Given the description of an element on the screen output the (x, y) to click on. 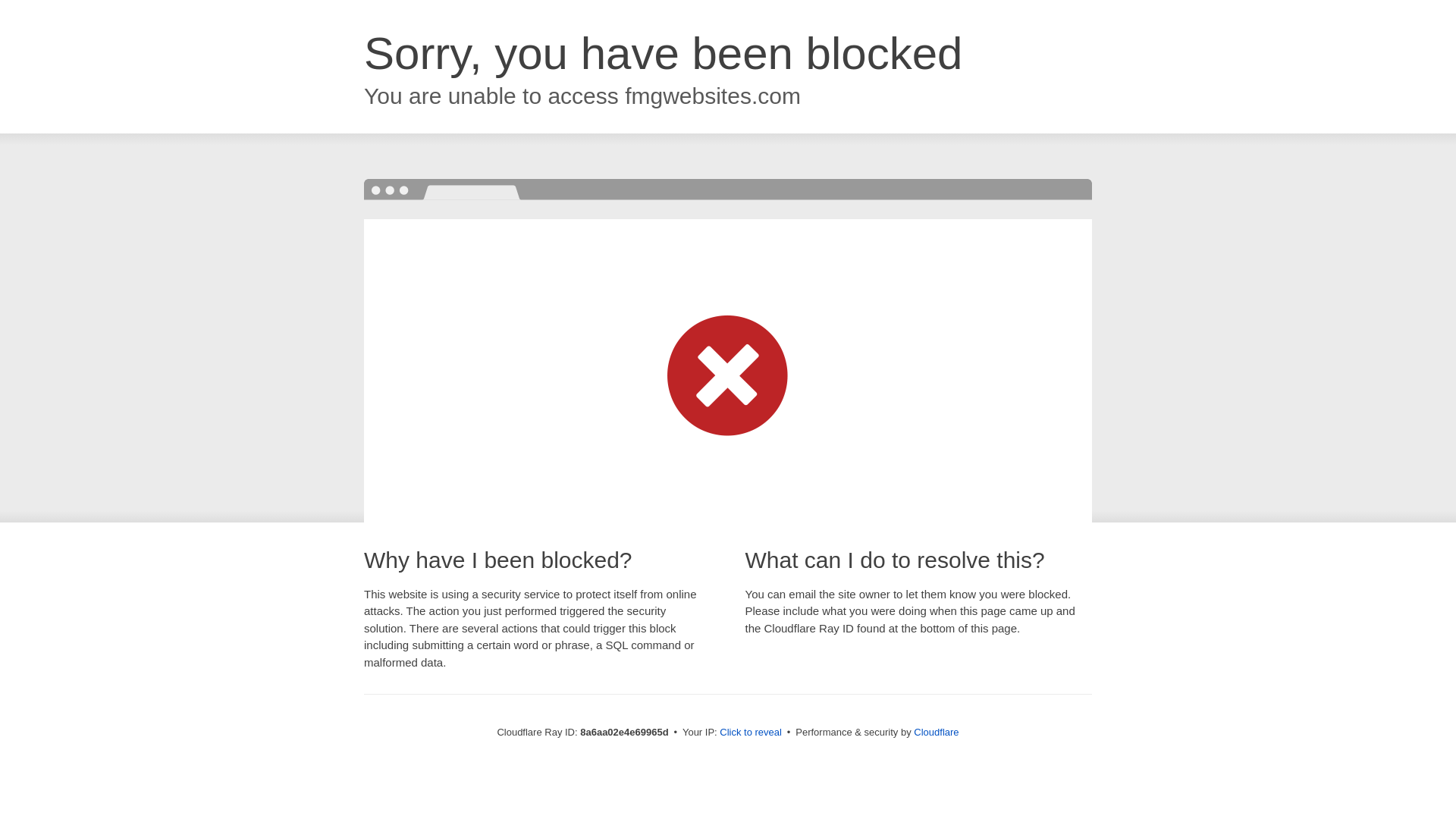
Cloudflare (936, 731)
Click to reveal (750, 732)
